Given the description of an element on the screen output the (x, y) to click on. 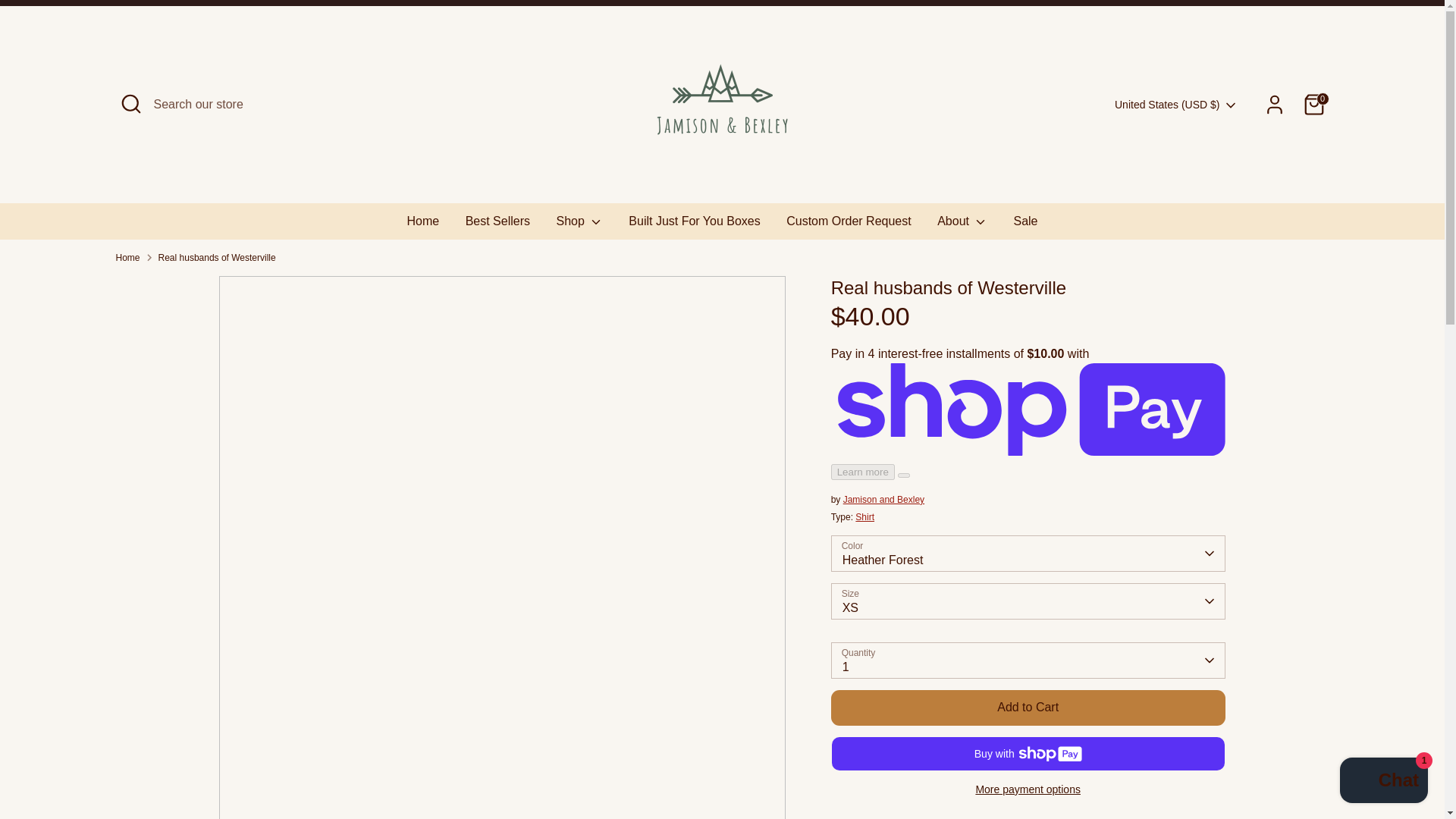
Shopify online store chat (1383, 781)
0 (1312, 104)
